Given the description of an element on the screen output the (x, y) to click on. 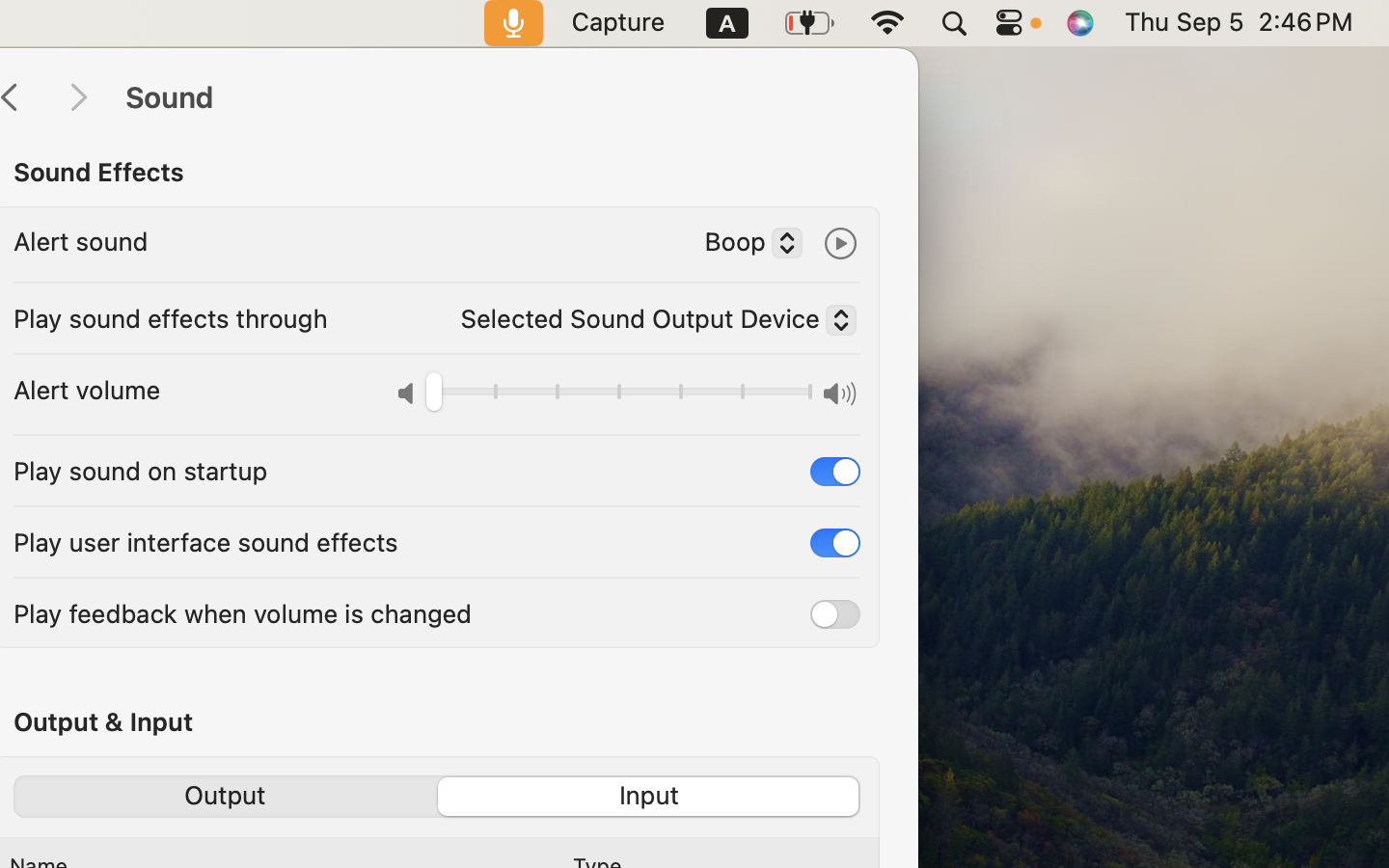
Alert volume Element type: AXStaticText (86, 389)
Play user interface sound effects Element type: AXStaticText (205, 541)
Boop Element type: AXPopUpButton (745, 245)
Play feedback when volume is changed Element type: AXStaticText (242, 612)
